Given the description of an element on the screen output the (x, y) to click on. 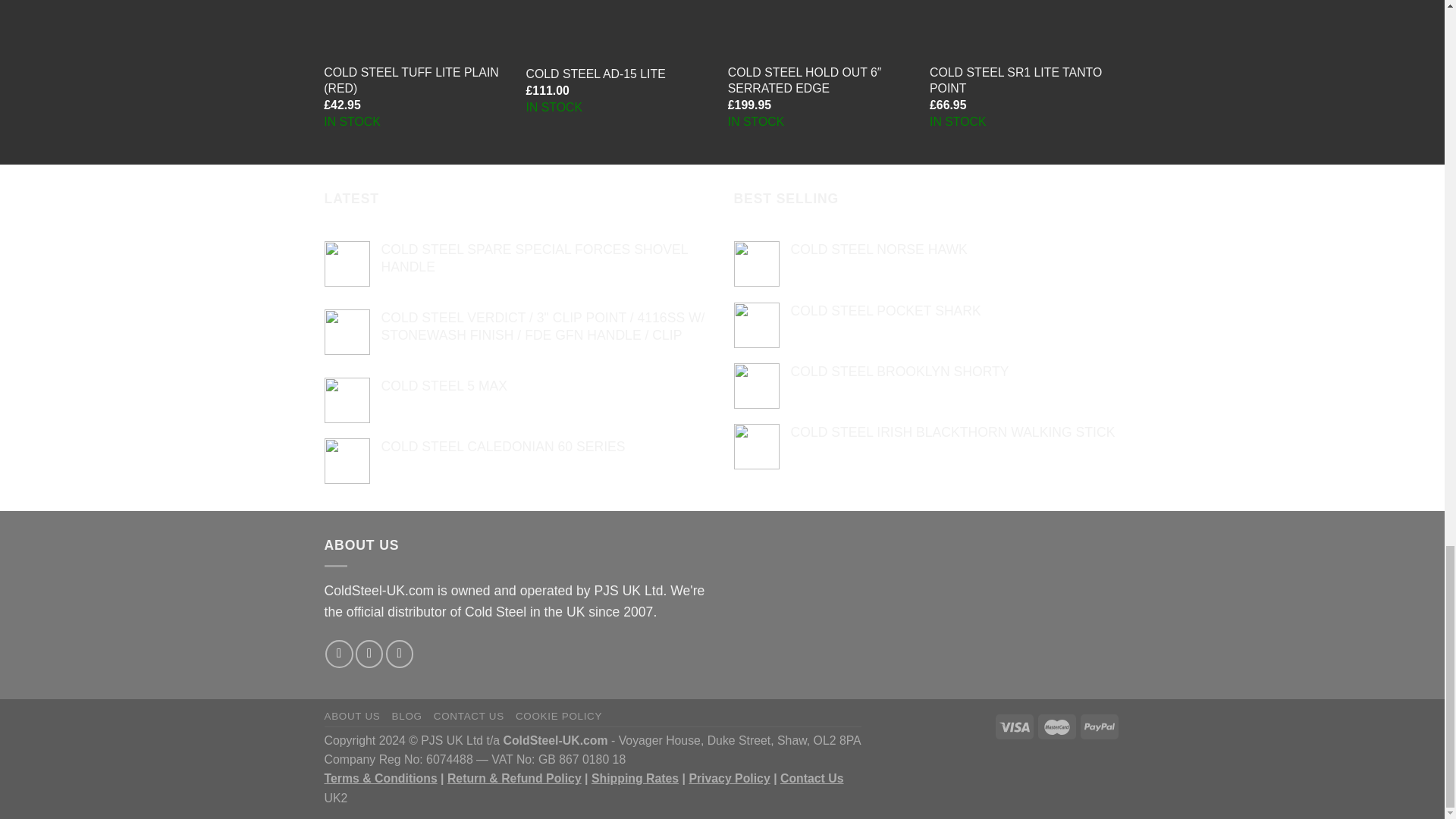
Follow on Twitter (368, 653)
Send us an email (399, 653)
Follow on Facebook (338, 653)
